Given the description of an element on the screen output the (x, y) to click on. 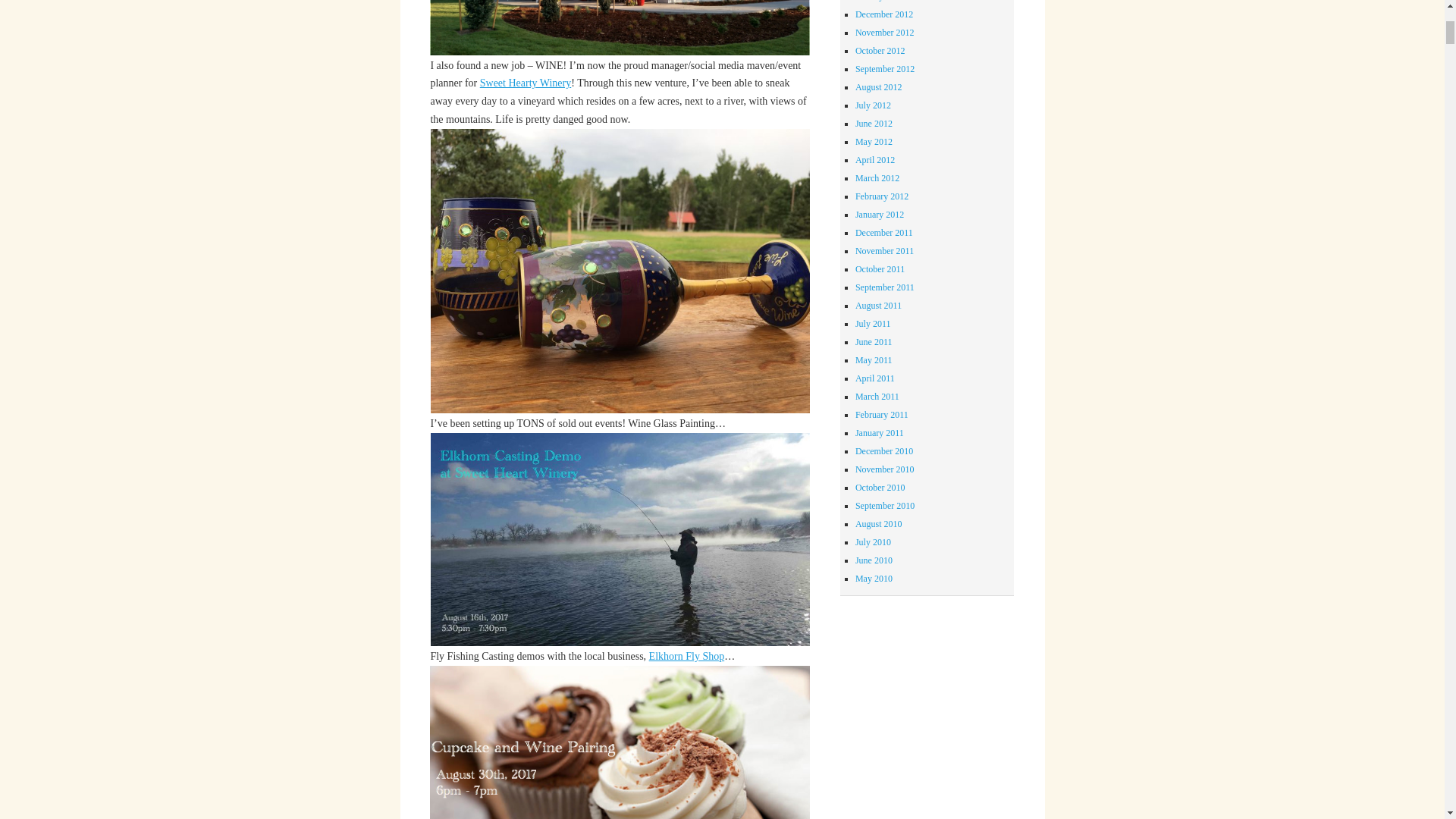
Sweet Hearty Winery (525, 82)
Elkhorn Fly Shop (687, 655)
